Given the description of an element on the screen output the (x, y) to click on. 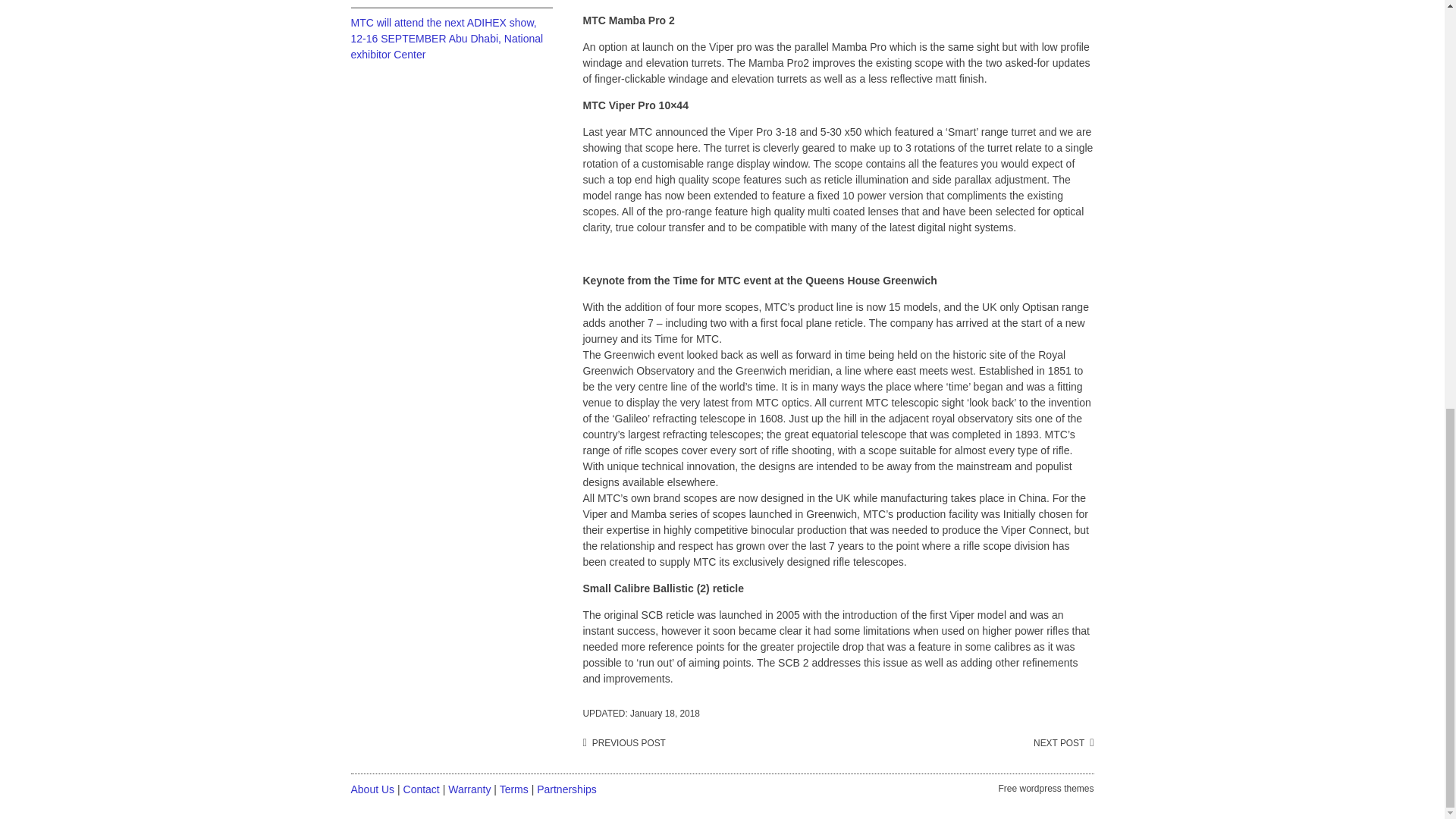
Warranty (469, 788)
Partnerships (566, 788)
Contact (421, 788)
NEXT POST (1063, 742)
Free wordpress themes (1045, 788)
Terms (513, 788)
PREVIOUS POST (623, 742)
January 18, 2018 (665, 713)
About Us (372, 788)
